Given the description of an element on the screen output the (x, y) to click on. 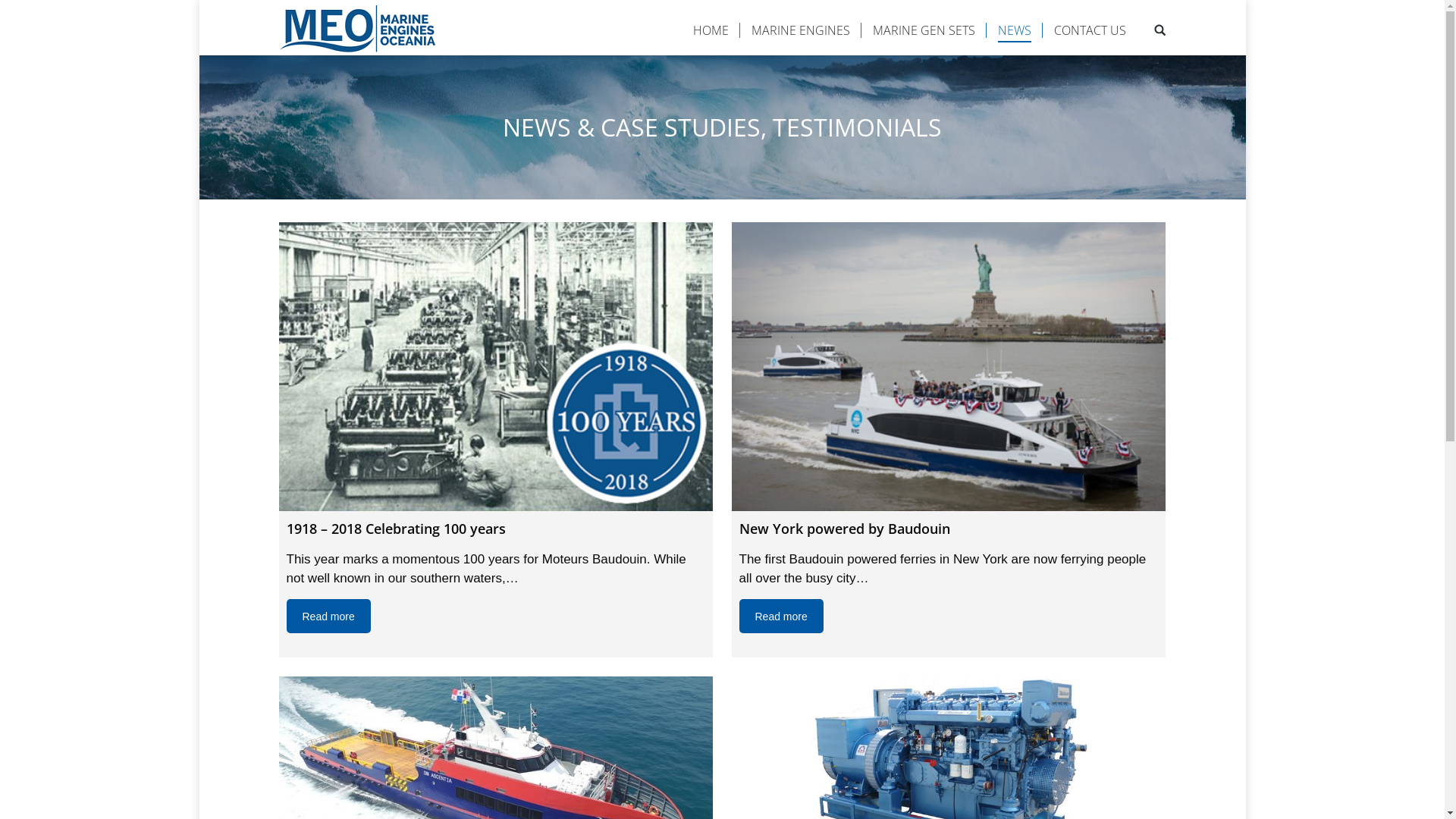
Read more Element type: text (328, 616)
HOME Element type: text (710, 29)
MARINE ENGINES Element type: text (799, 29)
Go! Element type: text (19, 15)
MARINE GEN SETS Element type: text (923, 29)
  Element type: text (1160, 30)
NEWS Element type: text (1014, 29)
Read more Element type: text (780, 616)
New York powered by Baudouin Element type: hover (948, 366)
CONTACT US Element type: text (1089, 29)
